Given the description of an element on the screen output the (x, y) to click on. 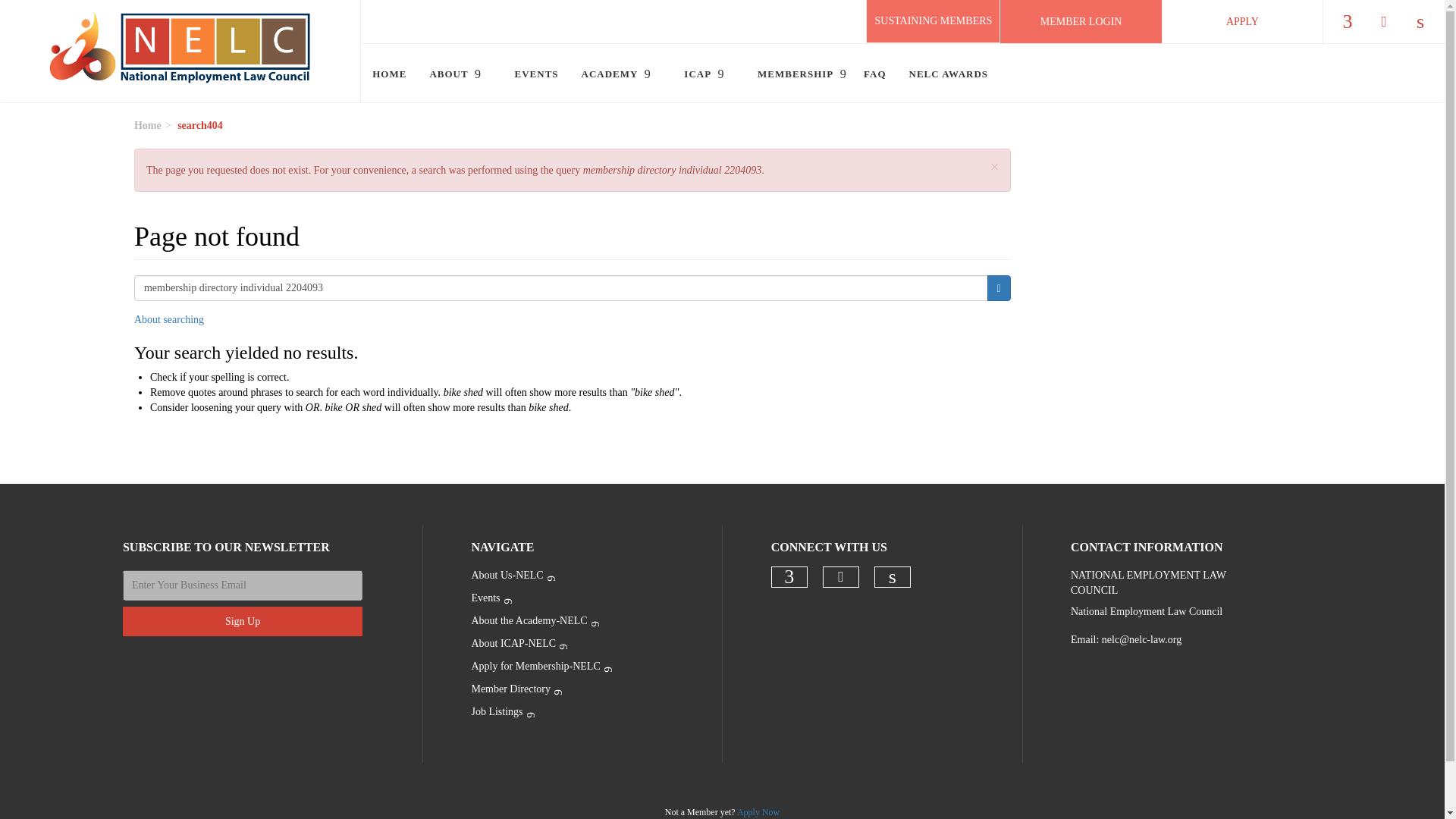
APPLY (1242, 21)
membership directory individual 2204093 (560, 288)
MEMBER LOGIN (1080, 21)
NELC AWARDS (943, 74)
membership directory individual 2204093 (560, 288)
HOME (389, 74)
Home (180, 51)
SUSTAINING MEMBERS (933, 20)
EVENTS (536, 74)
